Given the description of an element on the screen output the (x, y) to click on. 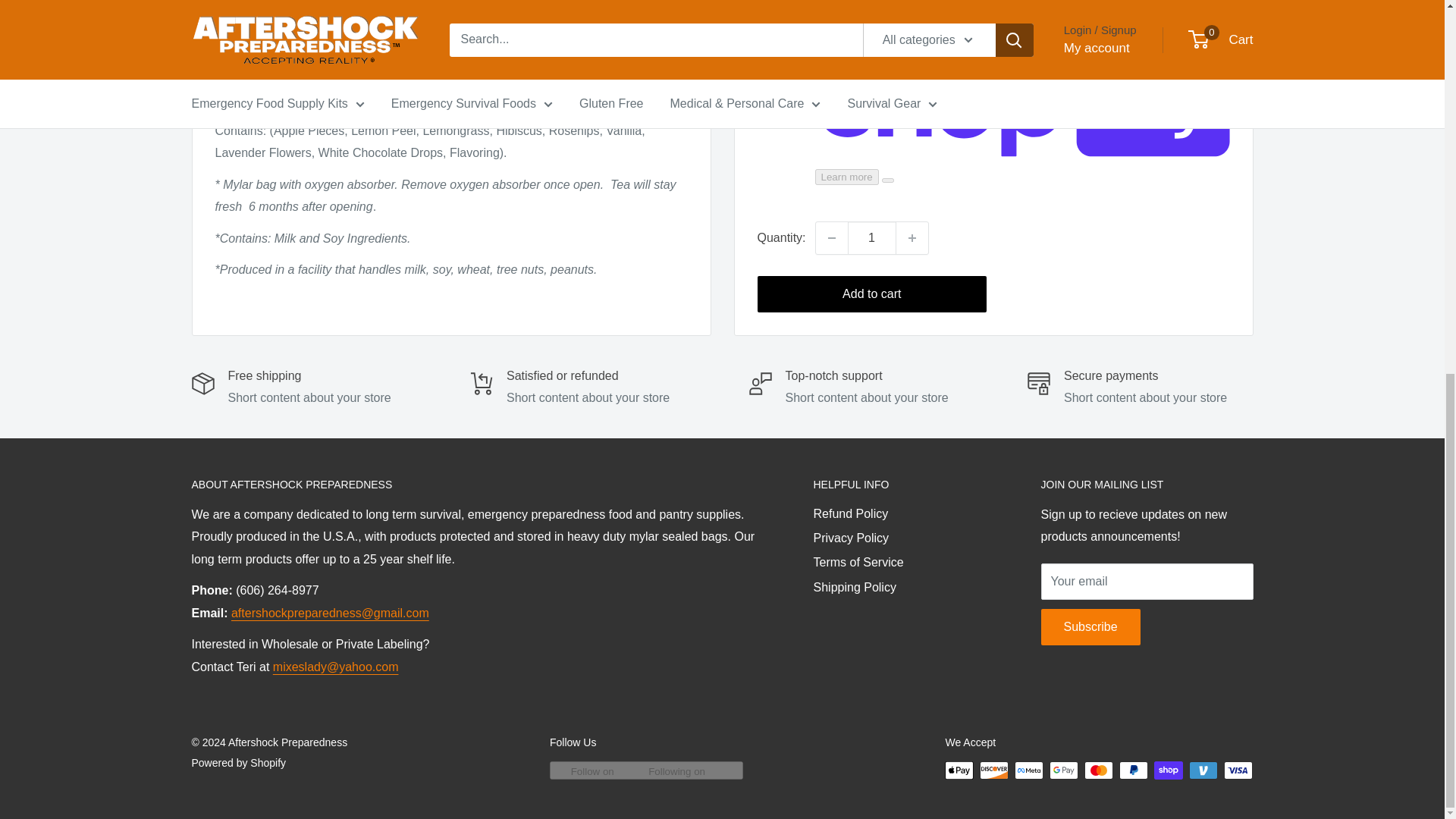
1 (871, 4)
Increase quantity by 1 (912, 4)
Decrease quantity by 1 (831, 4)
